Given the description of an element on the screen output the (x, y) to click on. 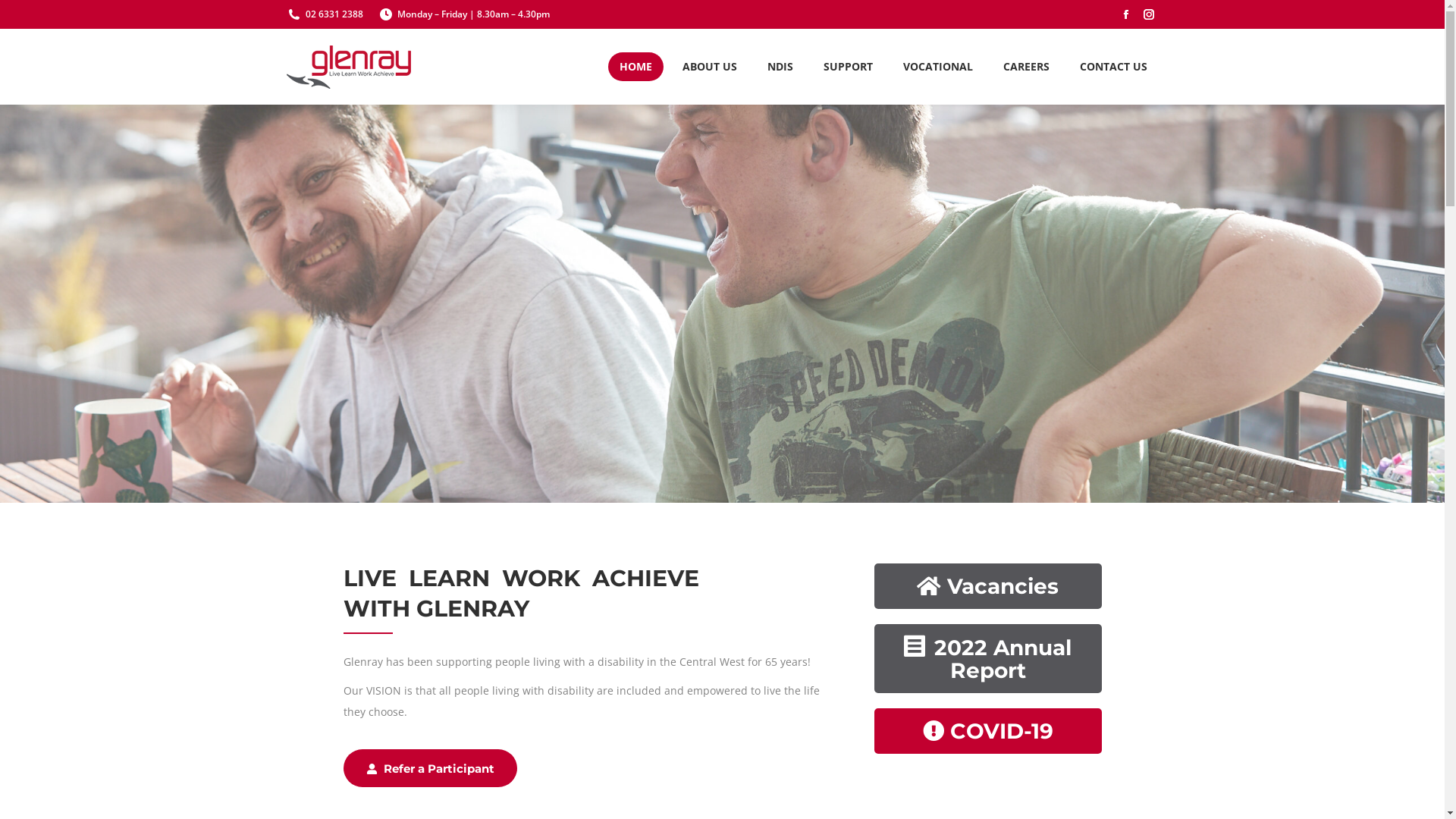
HOME Element type: text (635, 66)
VOCATIONAL Element type: text (937, 66)
SUPPORT Element type: text (847, 66)
COVID-19 Element type: text (987, 730)
NDIS Element type: text (779, 66)
Refer a Participant Element type: text (429, 768)
CONTACT US Element type: text (1112, 66)
CAREERS Element type: text (1025, 66)
2022 Annual Report Element type: text (987, 658)
Vacancies Element type: text (987, 585)
ABOUT US Element type: text (708, 66)
02 6331 2388 Element type: text (333, 14)
Facebook page opens in new window Element type: text (1125, 14)
Instagram page opens in new window Element type: text (1148, 14)
